Given the description of an element on the screen output the (x, y) to click on. 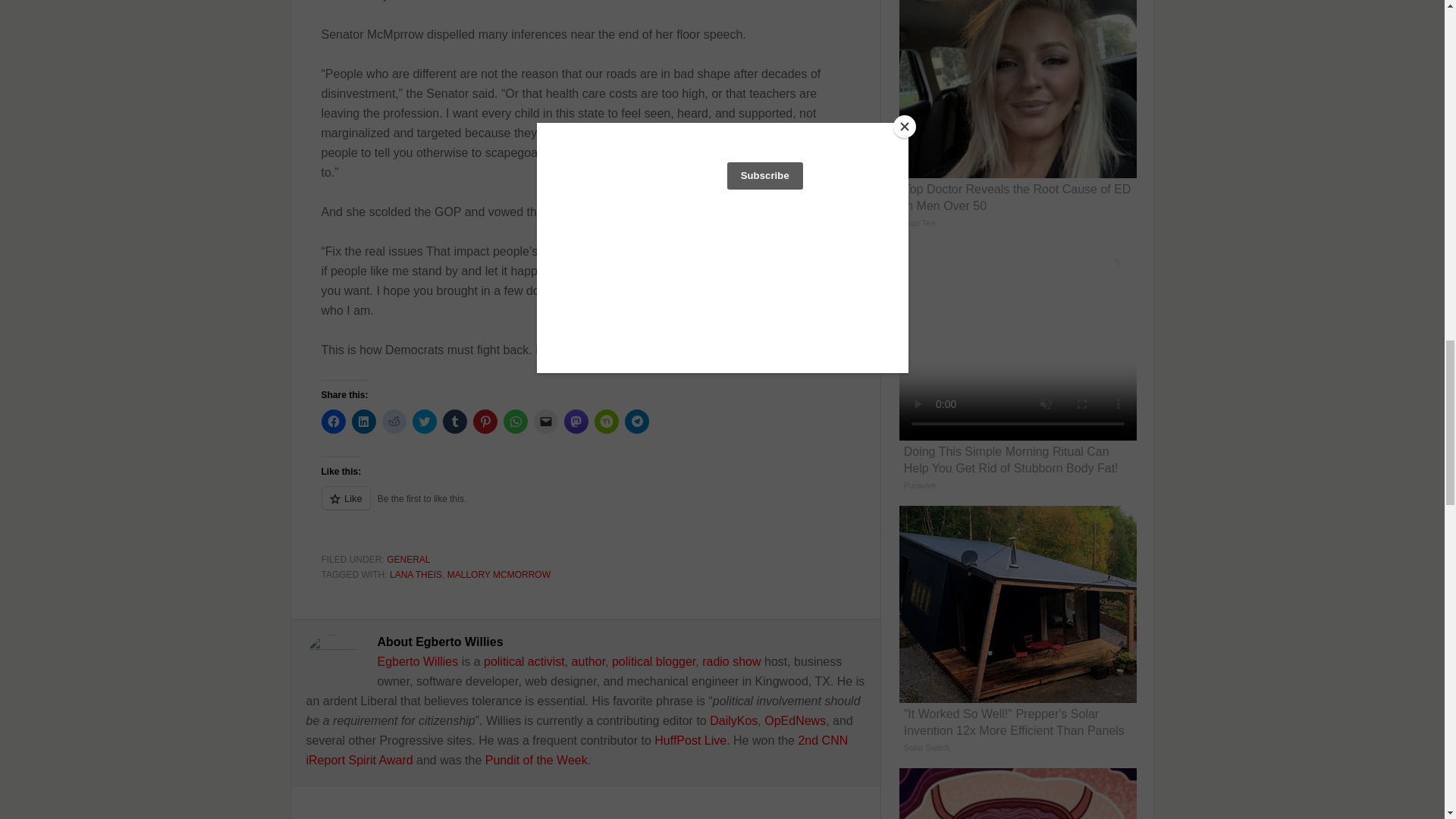
Click to share on Mastodon (576, 421)
Click to share on Twitter (424, 421)
Like or Reblog (585, 506)
Click to share on Nextdoor (606, 421)
Click to share on Reddit (393, 421)
Click to share on WhatsApp (515, 421)
Click to share on Facebook (333, 421)
Click to share on Pinterest (485, 421)
Click to share on Tumblr (454, 421)
Click to email a link to a friend (545, 421)
Click to share on Telegram (636, 421)
Click to share on LinkedIn (363, 421)
